Given the description of an element on the screen output the (x, y) to click on. 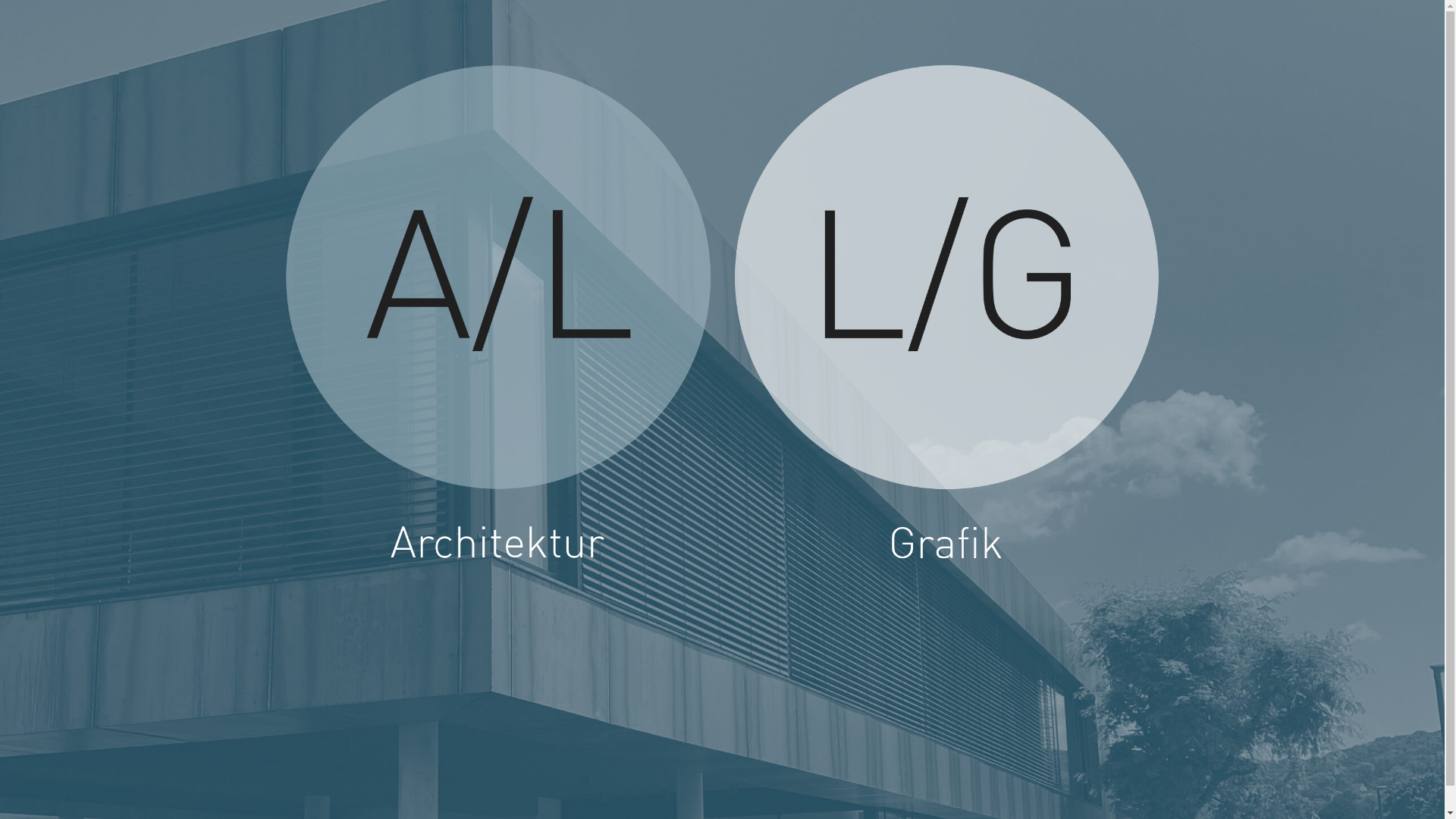
AL_start Element type: hover (498, 316)
LG_start Element type: hover (947, 316)
